Given the description of an element on the screen output the (x, y) to click on. 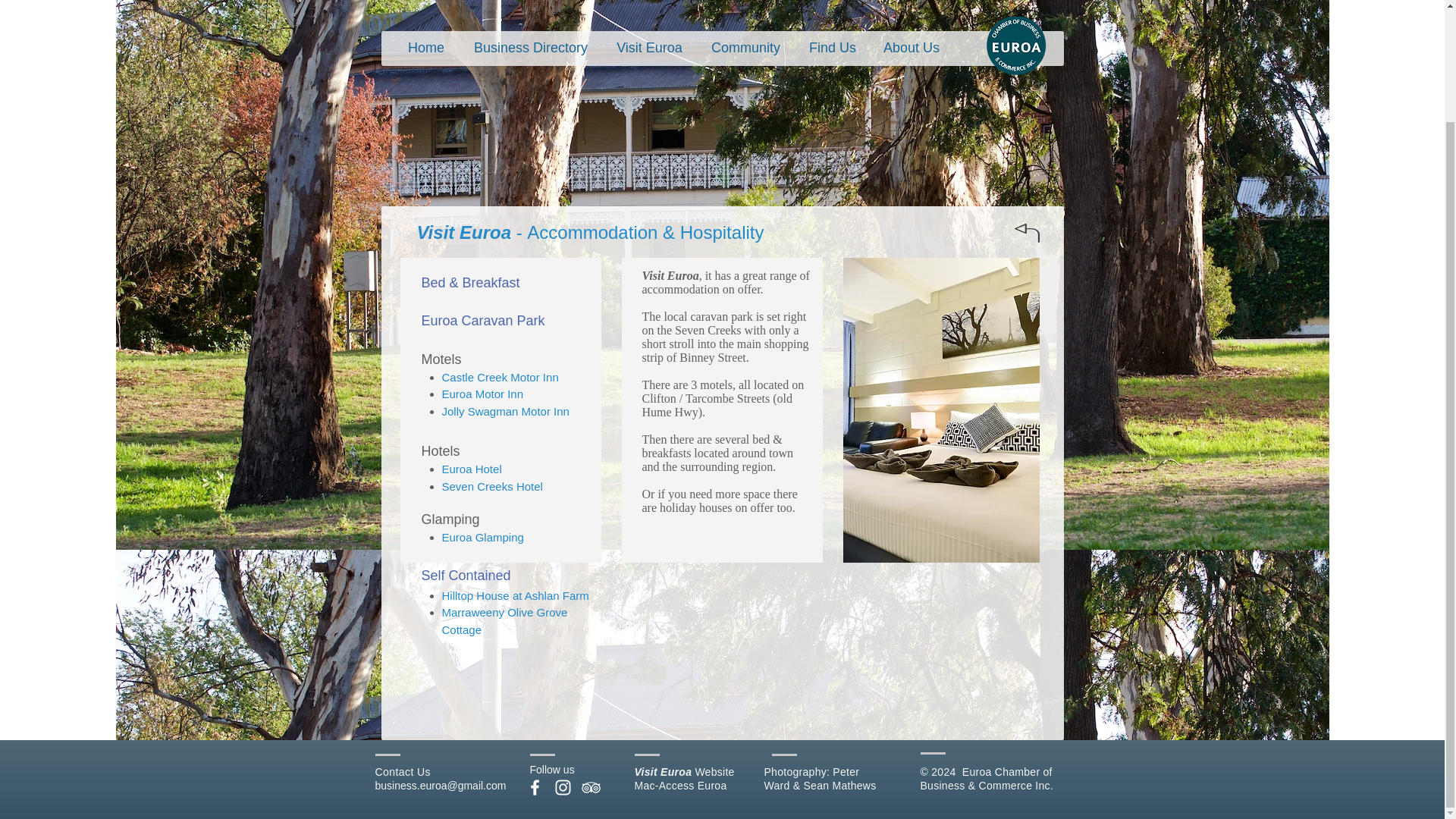
Hilltop House at Ashlan Farm (514, 594)
Seven Creeks Hotel (491, 486)
Euroa Caravan Park (483, 320)
Euroa Glamping (481, 536)
Euroa Hotel (470, 468)
Castle Creek Motor Inn (499, 377)
Euroa Motor Inn (481, 393)
Marraweeny Olive Grove Cottage (504, 621)
Mac-Access Euroa (679, 785)
Self Contained (466, 575)
Contact Us (401, 771)
Jolly Swagman Motor Inn (505, 410)
